Given the description of an element on the screen output the (x, y) to click on. 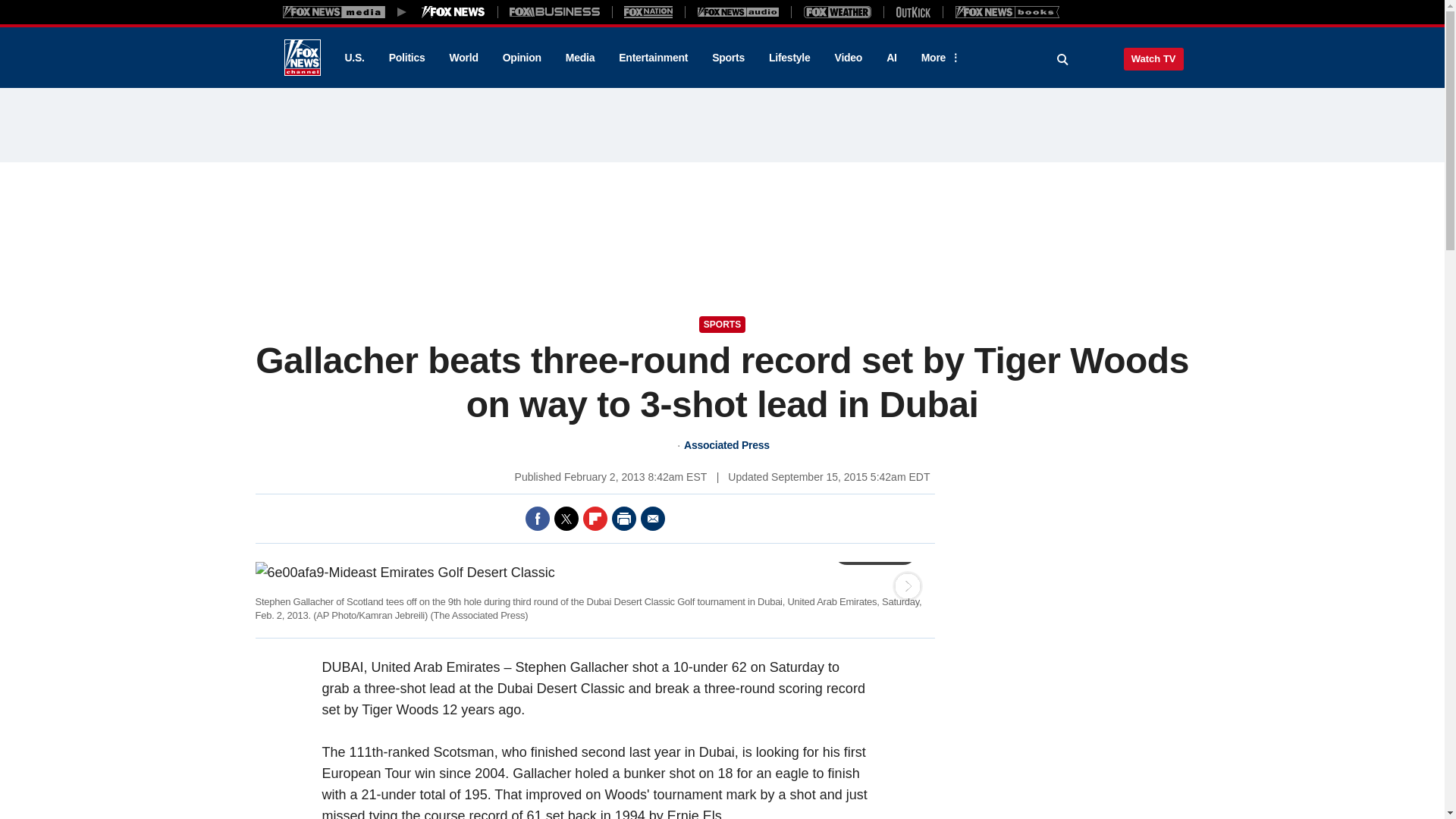
Video (848, 57)
Sports (728, 57)
Entertainment (653, 57)
Fox News Audio (737, 11)
Books (1007, 11)
Politics (407, 57)
AI (891, 57)
Lifestyle (789, 57)
Fox Weather (836, 11)
Watch TV (1153, 58)
